Given the description of an element on the screen output the (x, y) to click on. 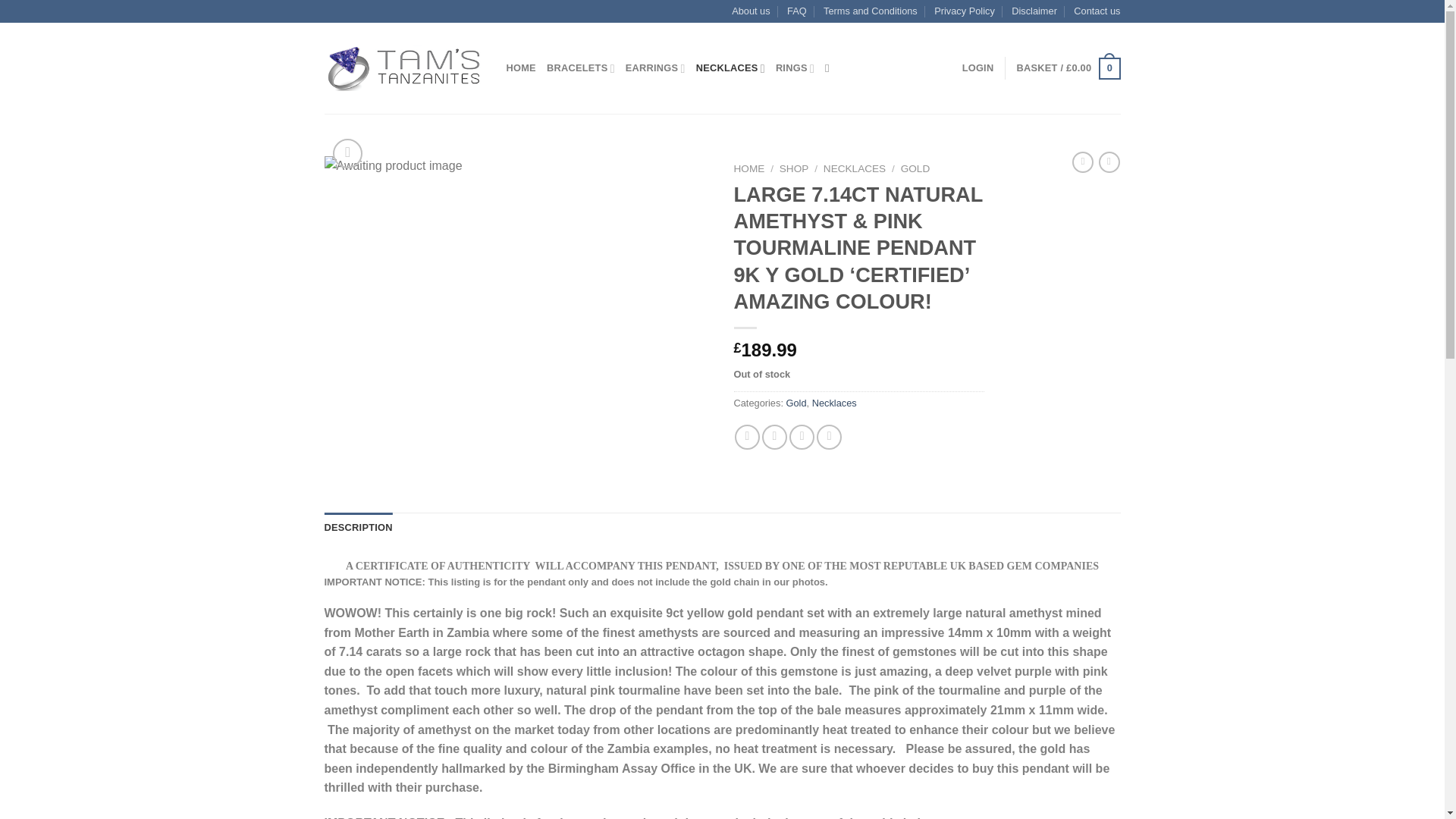
Gold (796, 402)
About us (751, 11)
HOME (749, 168)
NECKLACES (730, 68)
HOME (520, 68)
Share on Facebook (747, 437)
Necklaces (834, 402)
Pin on Pinterest (828, 437)
SHOP (793, 168)
Disclaimer (1034, 11)
